Given the description of an element on the screen output the (x, y) to click on. 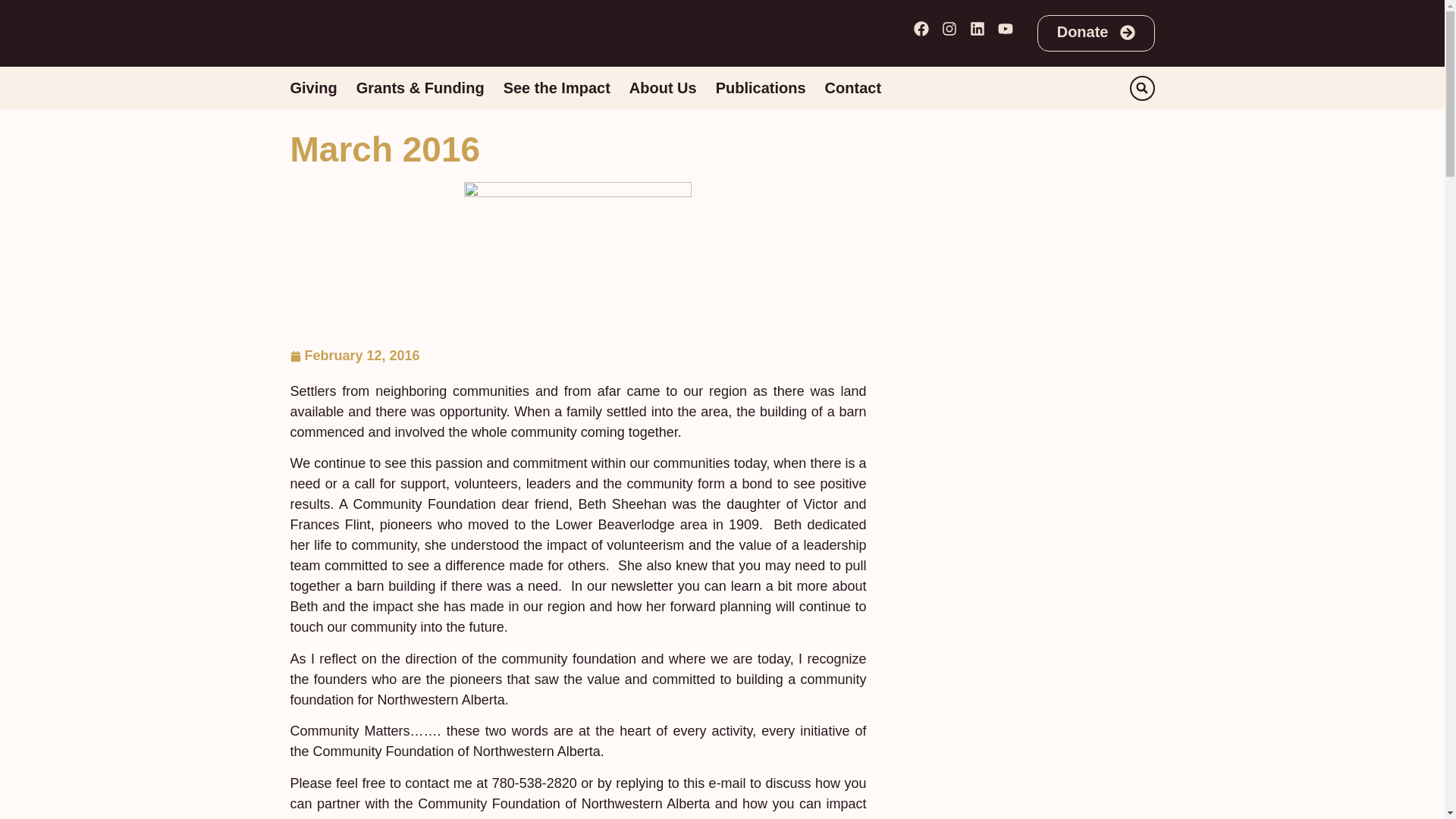
Donate (1095, 33)
Publications (761, 87)
About Us (662, 87)
Giving (312, 87)
Contact (852, 87)
See the Impact (556, 87)
